Given the description of an element on the screen output the (x, y) to click on. 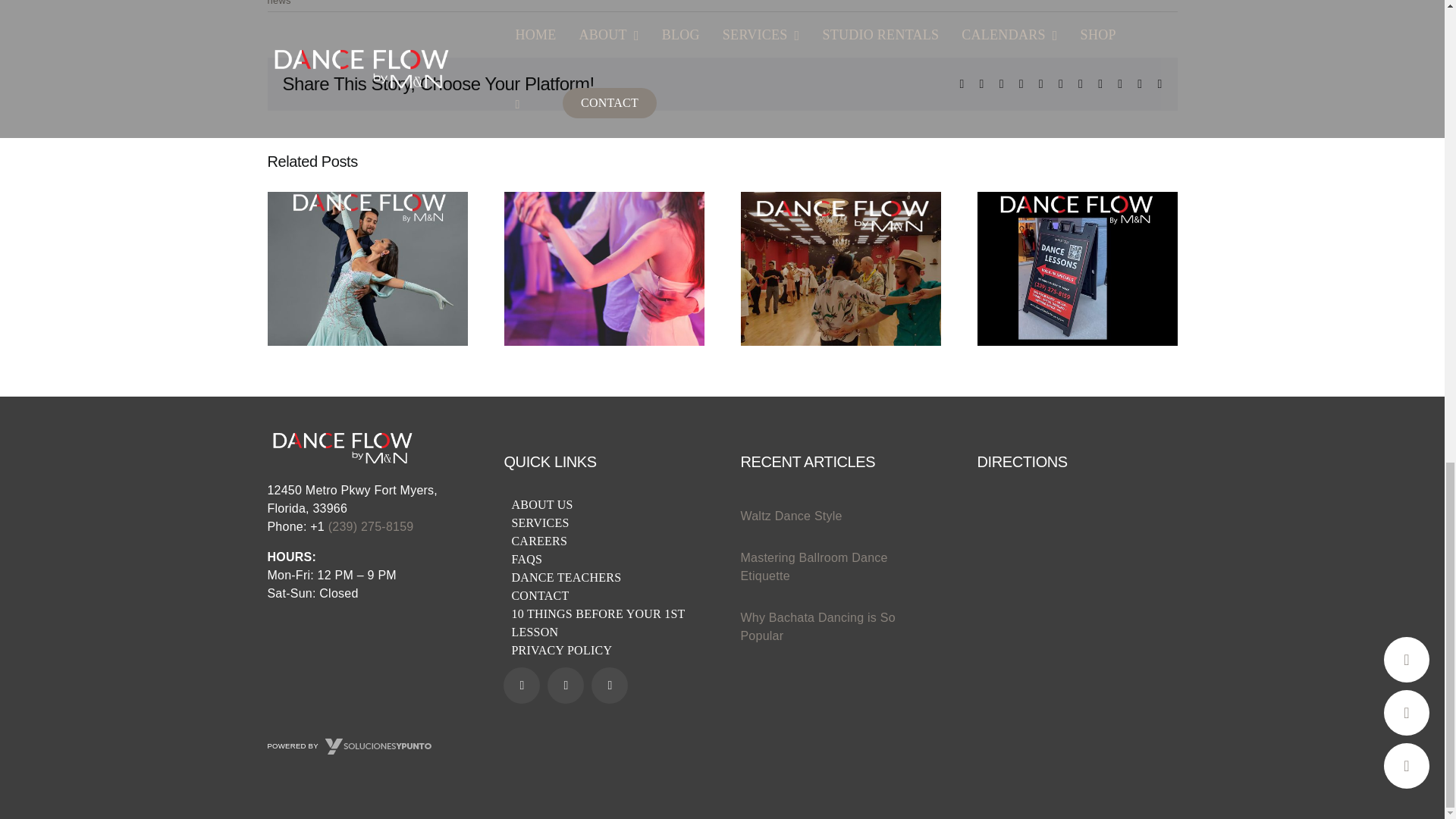
news (277, 2)
